Given the description of an element on the screen output the (x, y) to click on. 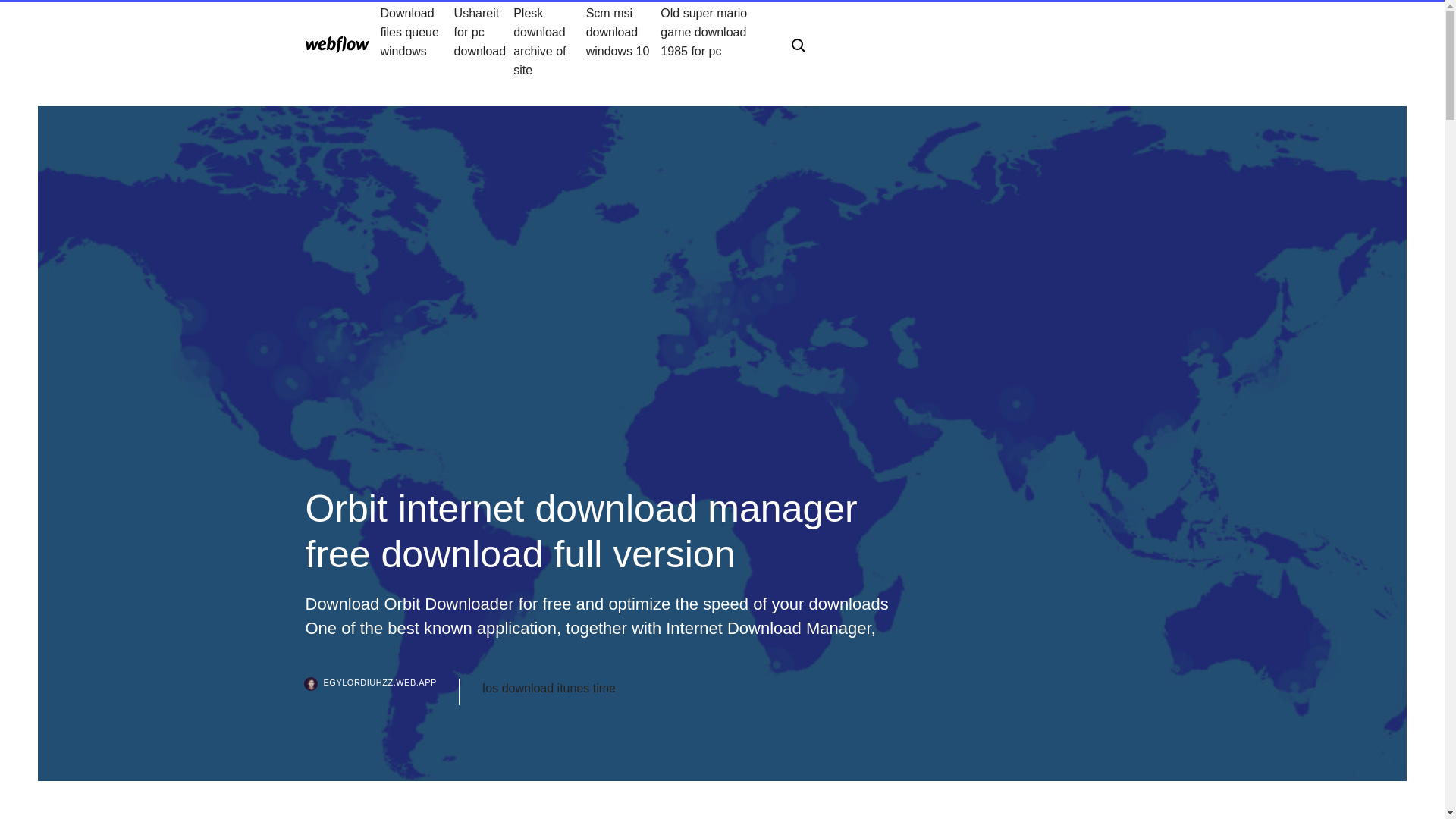
Download files queue windows (417, 41)
Ushareit for pc download (483, 41)
Scm msi download windows 10 (623, 41)
EGYLORDIUHZZ.WEB.APP (381, 691)
Plesk download archive of site (549, 41)
Old super mario game download 1985 for pc (714, 41)
Ios download itunes time (548, 687)
